Given the description of an element on the screen output the (x, y) to click on. 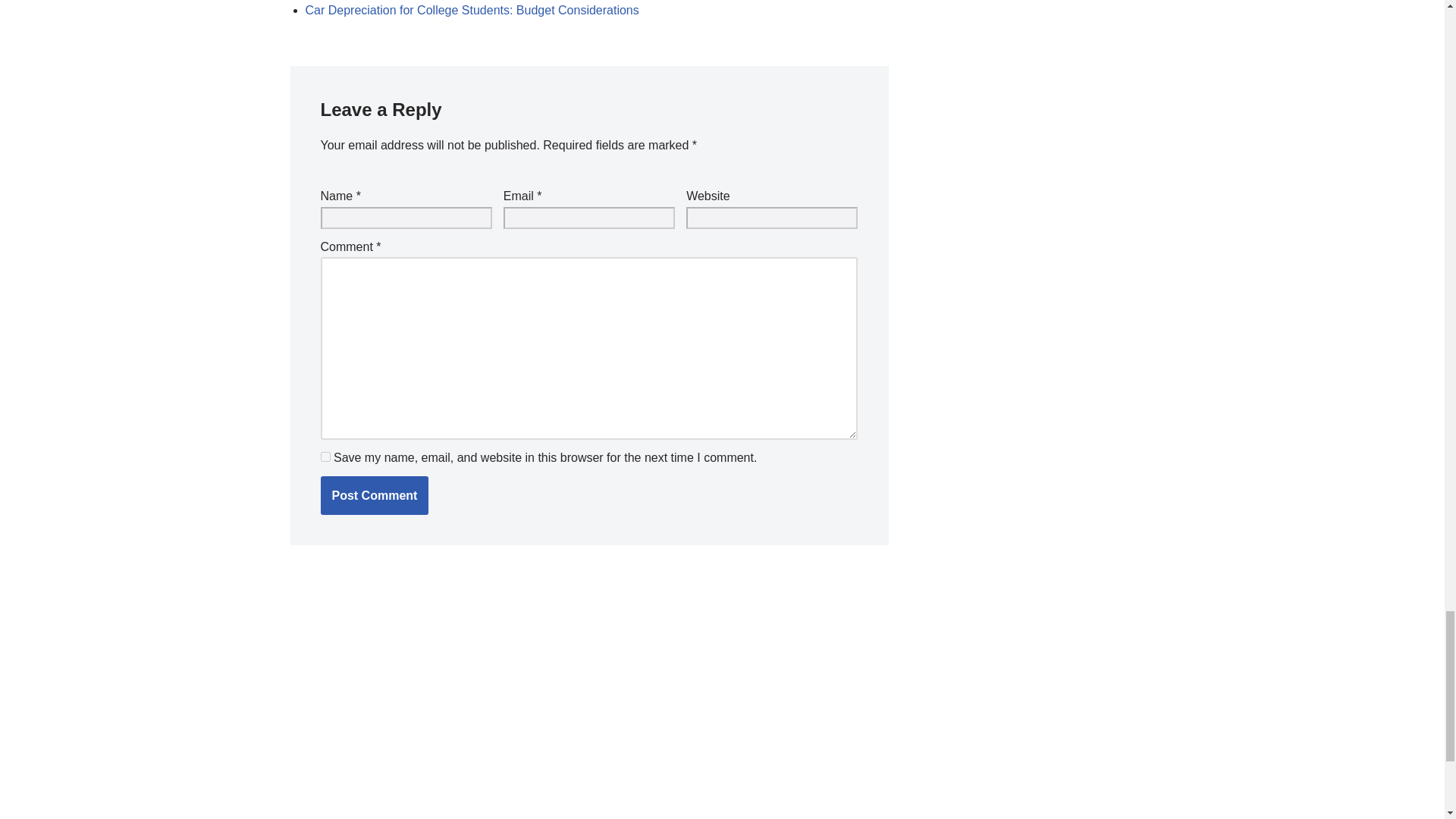
Post Comment (374, 495)
yes (325, 456)
